Given the description of an element on the screen output the (x, y) to click on. 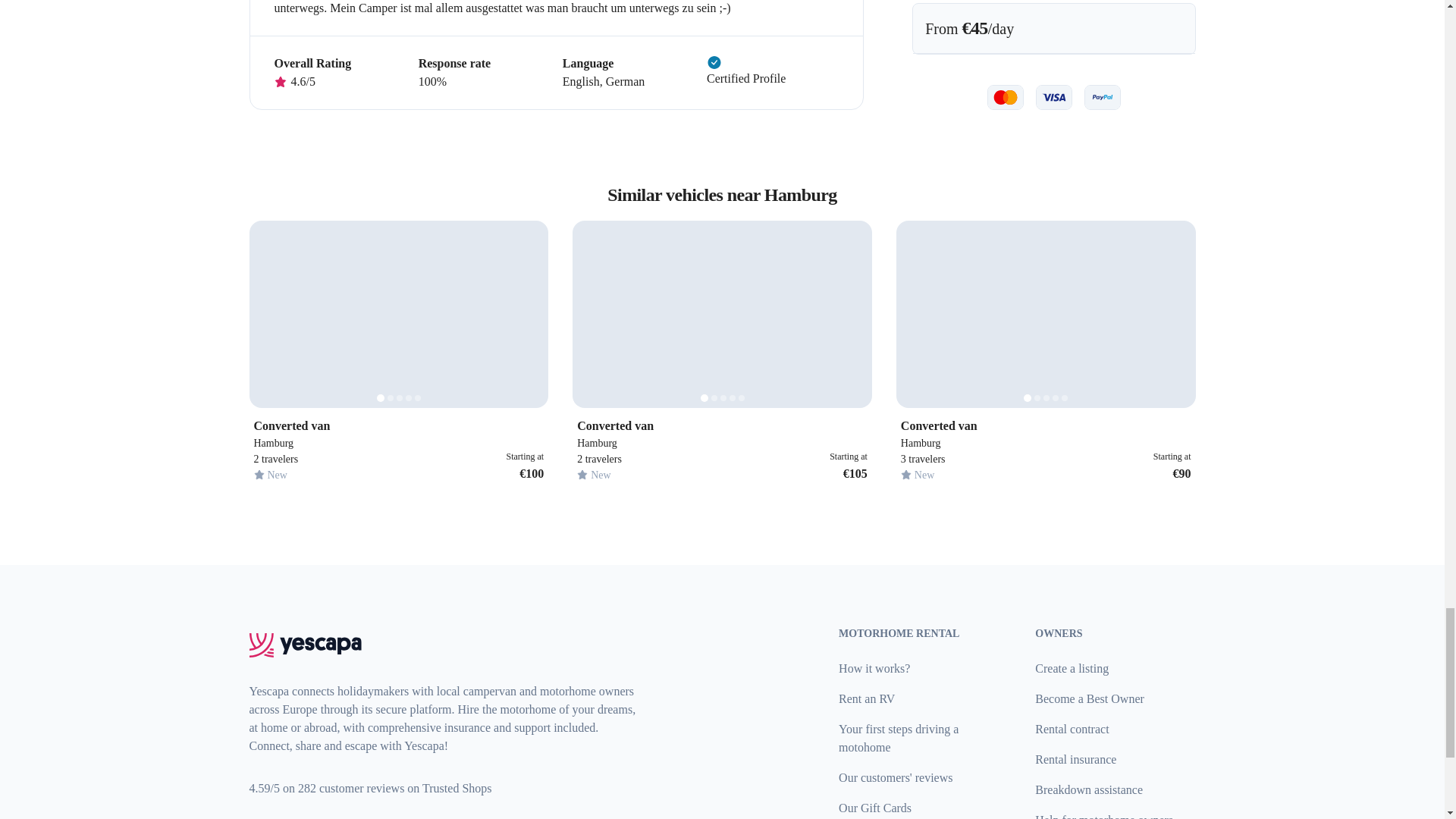
yescapa.fr custom reviews (370, 788)
Converted van (1046, 425)
Converted van (721, 425)
Converted van (398, 425)
